Given the description of an element on the screen output the (x, y) to click on. 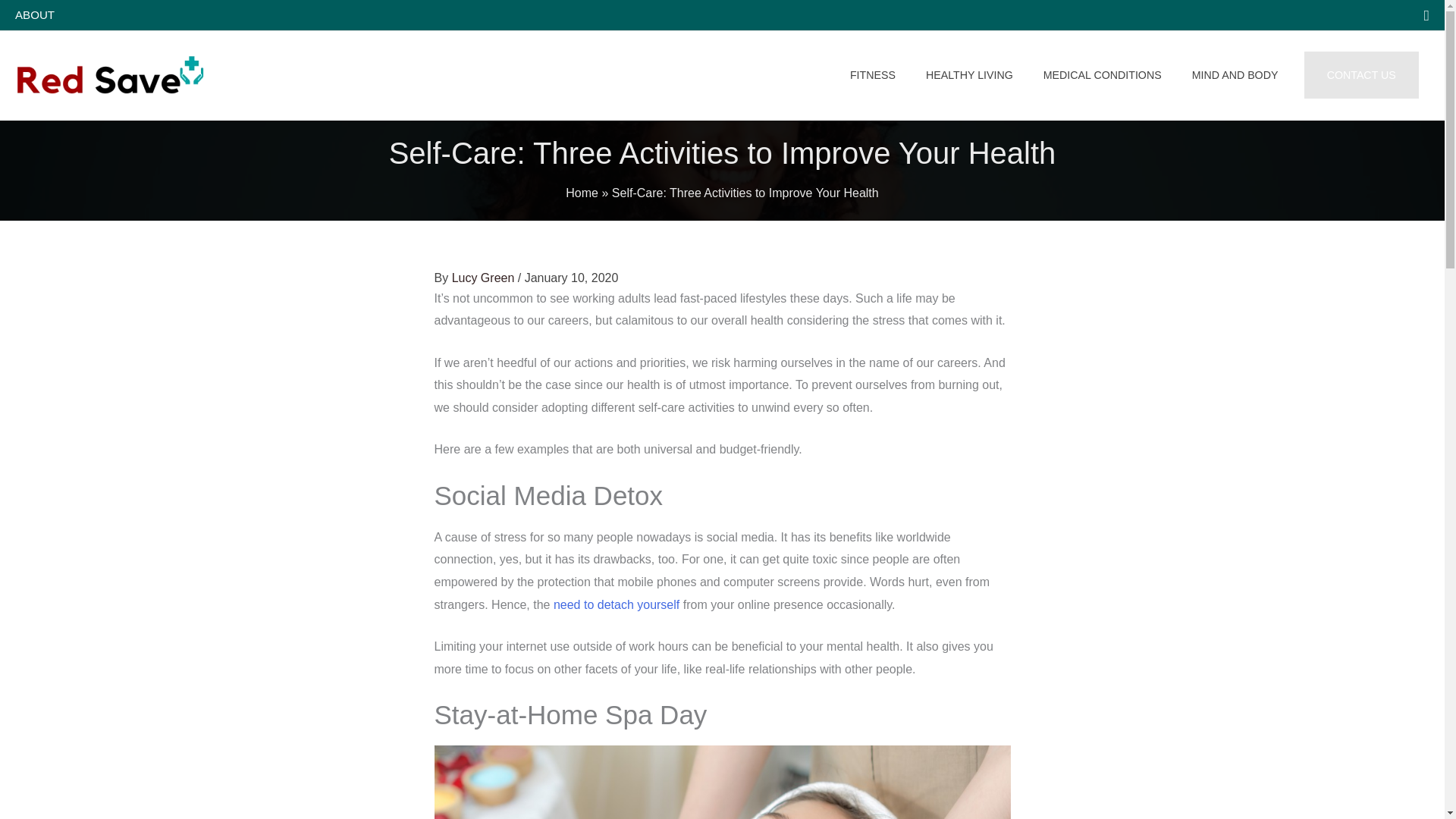
View all posts by Lucy Green (484, 277)
BBC (616, 604)
CONTACT US (1361, 74)
need to detach yourself (616, 604)
HEALTHY LIVING (969, 75)
FITNESS (872, 75)
Home (582, 192)
ABOUT (39, 15)
Lucy Green (484, 277)
MIND AND BODY (1235, 75)
